Given the description of an element on the screen output the (x, y) to click on. 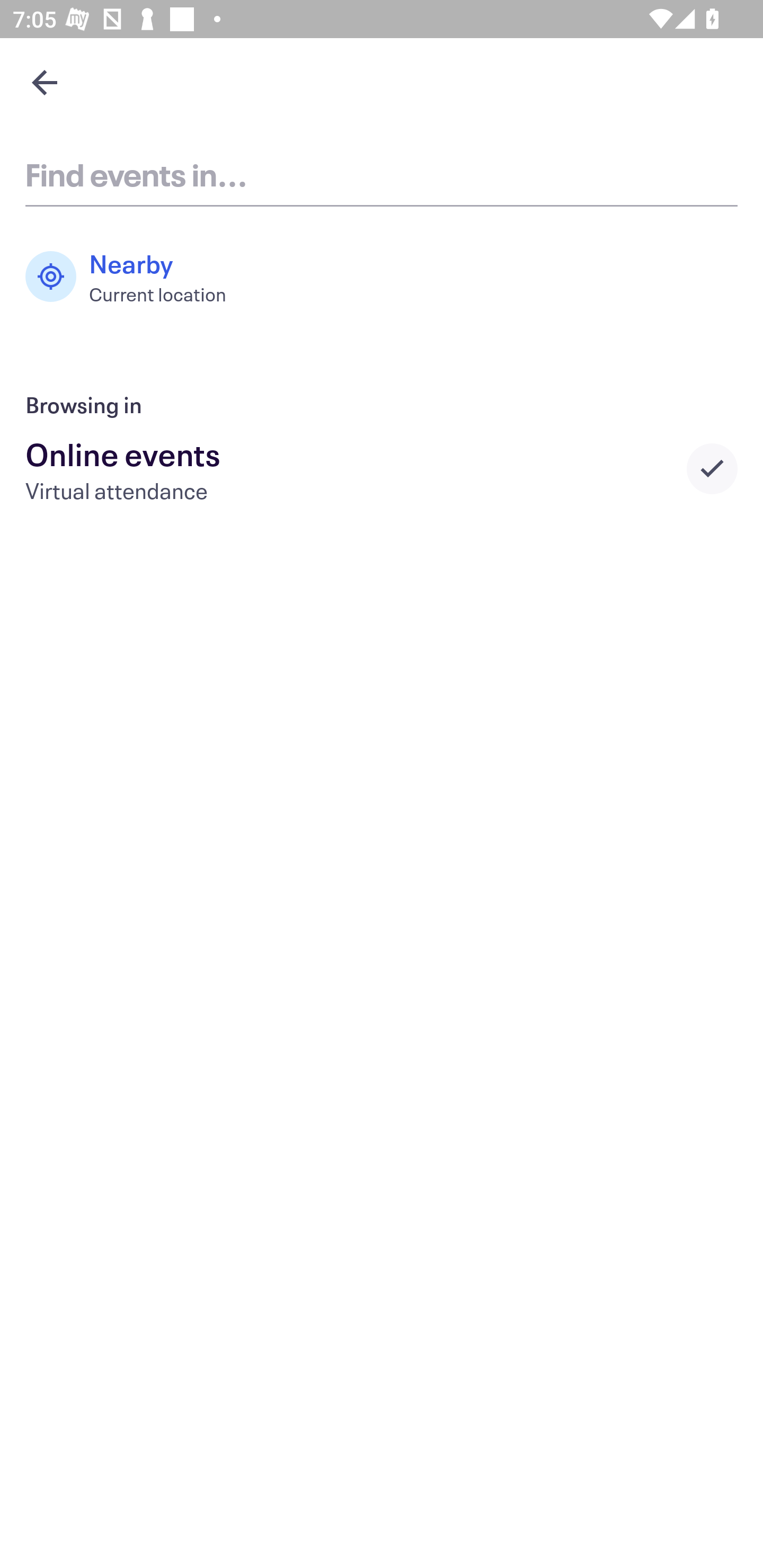
Navigate up (44, 82)
Find events in... (381, 173)
Nearby Current location (135, 276)
Online events Virtual attendance Selected city (381, 468)
